Given the description of an element on the screen output the (x, y) to click on. 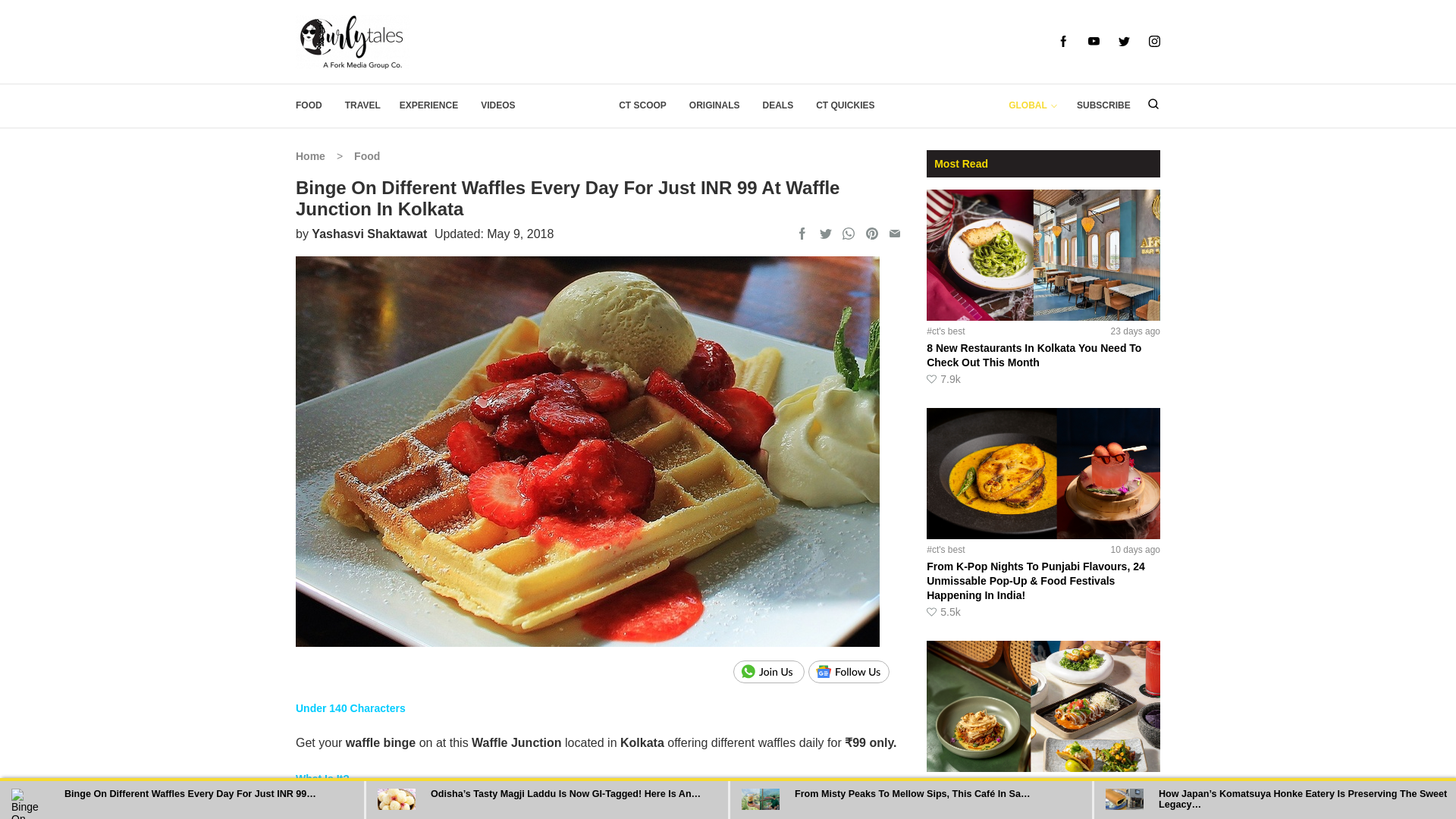
FOOD (308, 105)
